Given the description of an element on the screen output the (x, y) to click on. 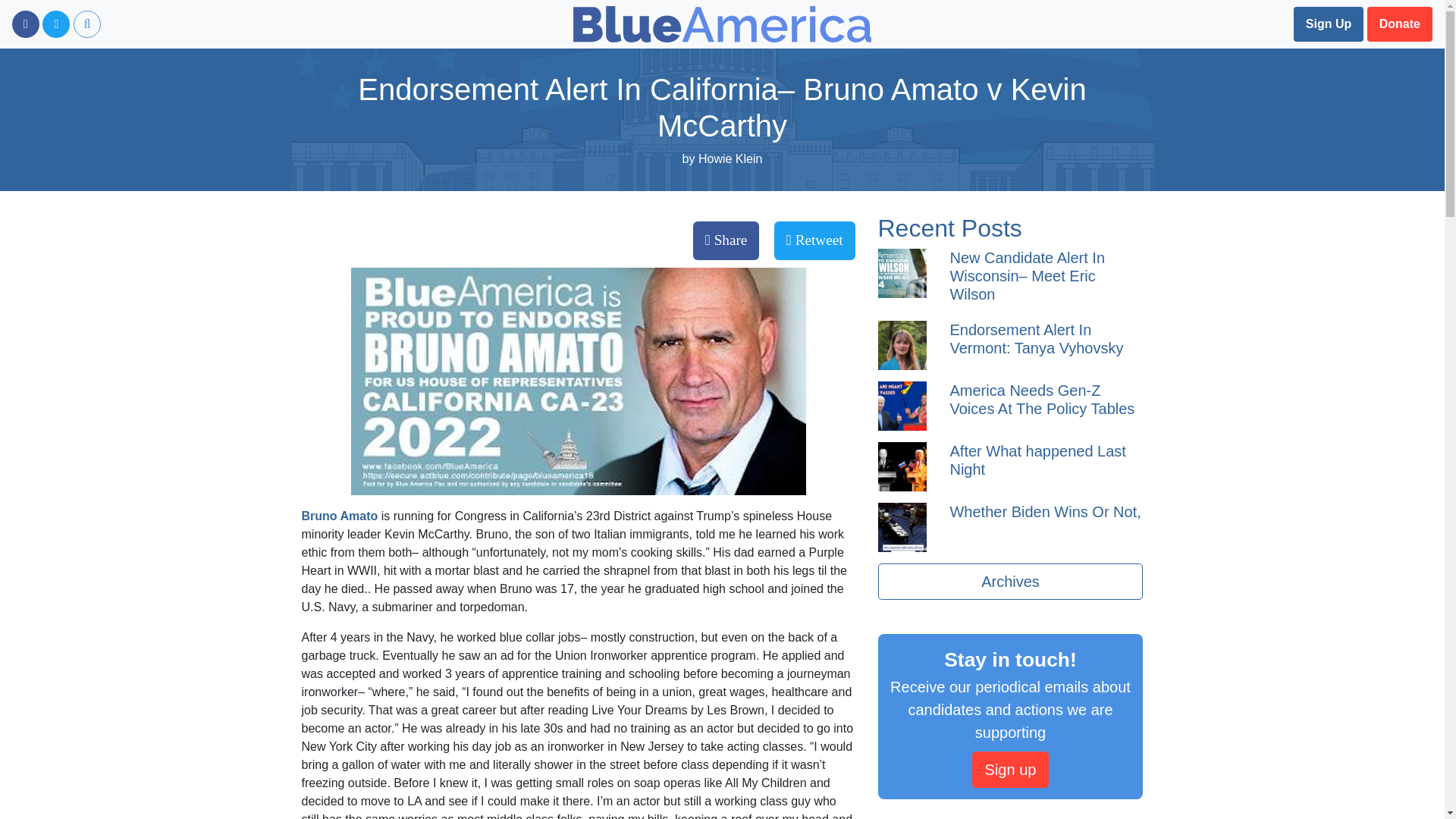
Howie Klein (729, 158)
Share (726, 240)
Share on Facebook (726, 240)
Bruno Amato (341, 515)
Follow us on Twitter (55, 23)
Endorsement Alert In Vermont: Tanya Vyhovsky (1035, 338)
Archives (1009, 581)
Sign Up (1328, 23)
Share on Twitter (815, 240)
Sign up (1010, 769)
America Needs Gen-Z Voices At The Policy Tables (1041, 399)
Archives (1009, 581)
After What happened Last Night (1037, 460)
Whether Biden Wins Or Not, (1044, 511)
Join our mailing list (1328, 23)
